Given the description of an element on the screen output the (x, y) to click on. 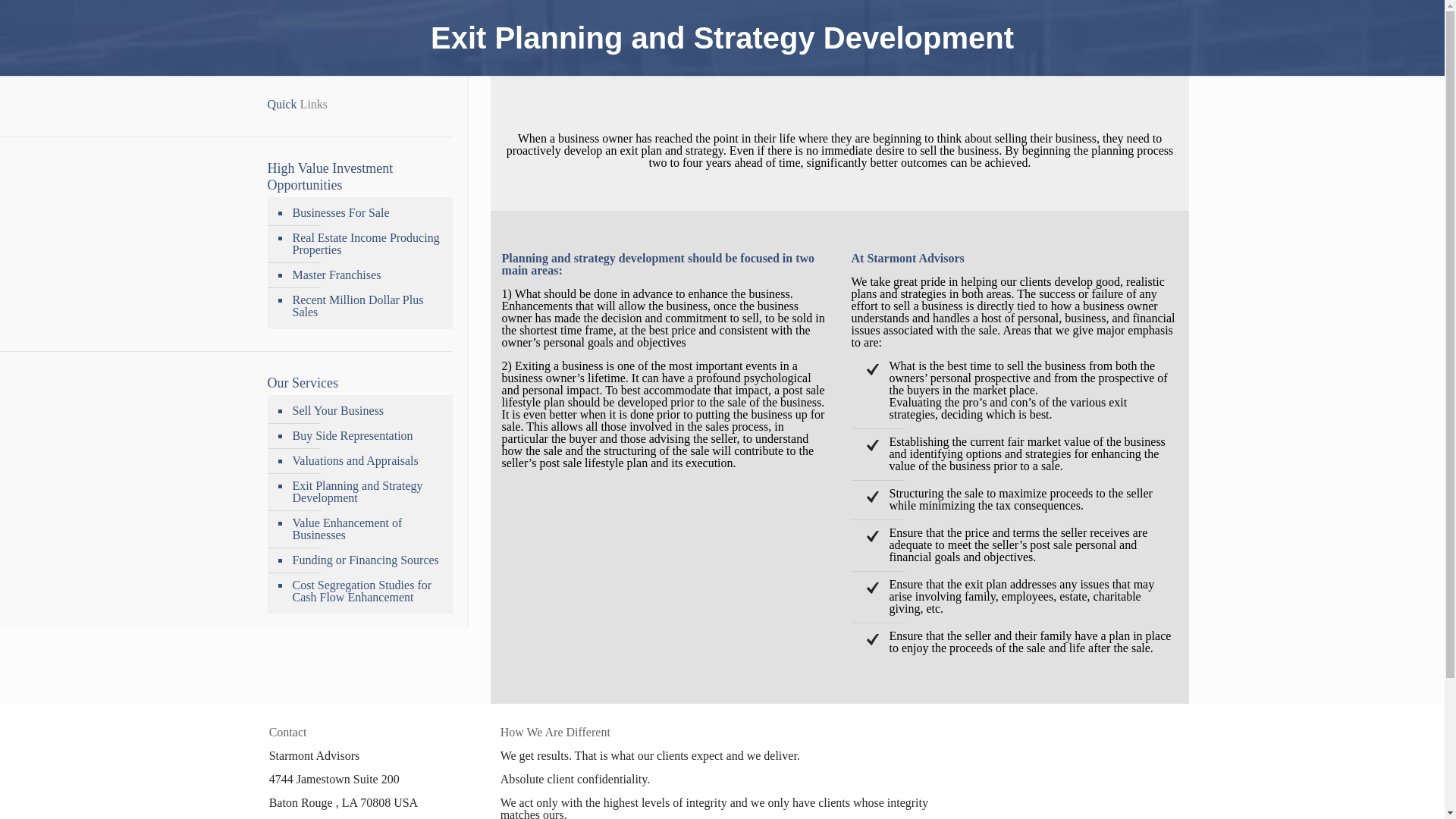
Funding or Financing Sources (366, 560)
Businesses For Sale (366, 213)
Real Estate Income Producing Properties (366, 244)
Valuations and Appraisals (366, 461)
Sell Your Business (366, 411)
Exit Planning and Strategy Development (366, 492)
Recent Million Dollar Plus Sales (366, 306)
Value Enhancement of Businesses (366, 529)
Master Franchises (366, 275)
Cost Segregation Studies for Cash Flow Enhancement (366, 591)
Buy Side Representation (366, 436)
